Given the description of an element on the screen output the (x, y) to click on. 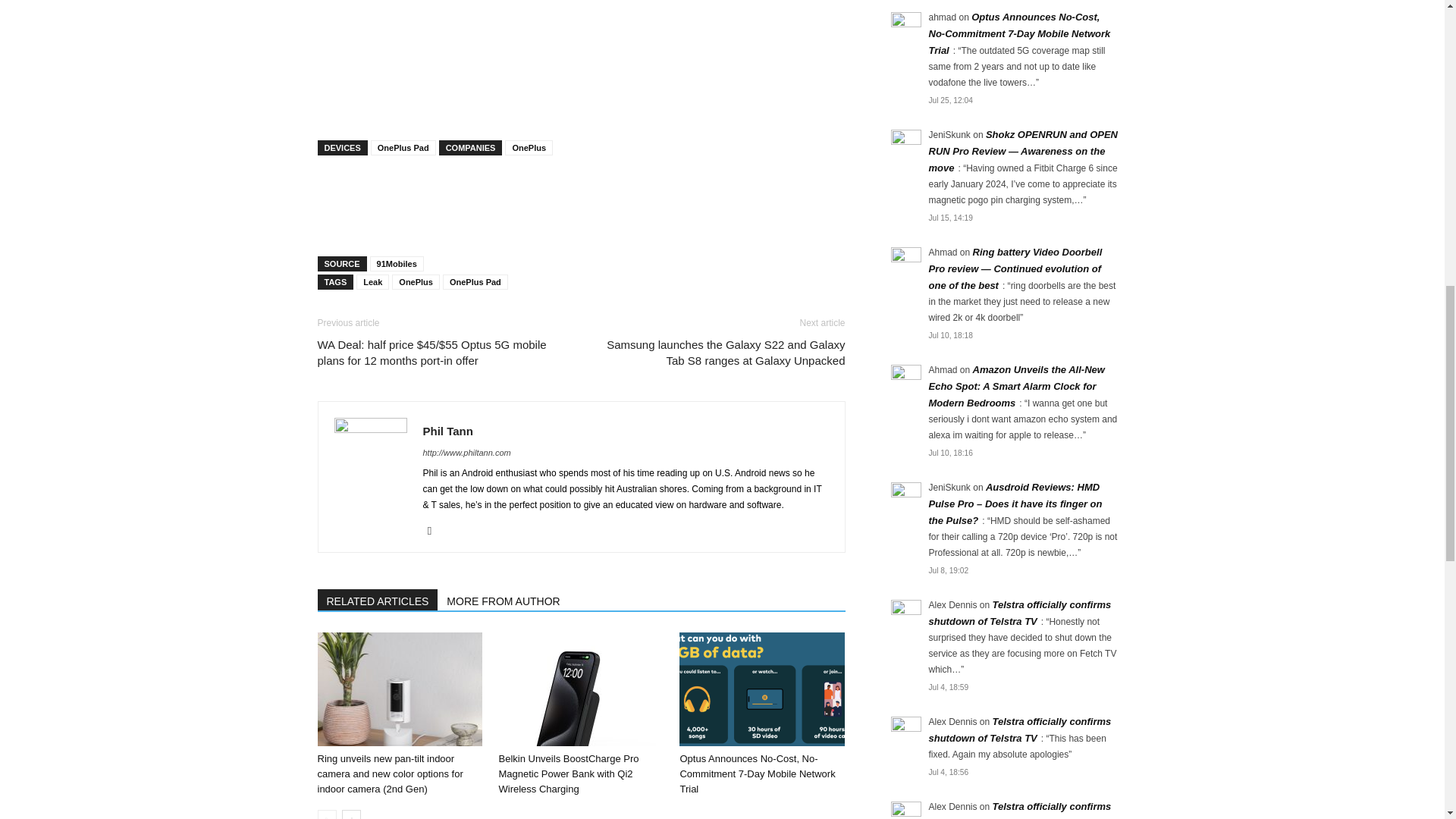
Advertisement (580, 62)
Advertisement (580, 205)
Twitter (435, 530)
